Given the description of an element on the screen output the (x, y) to click on. 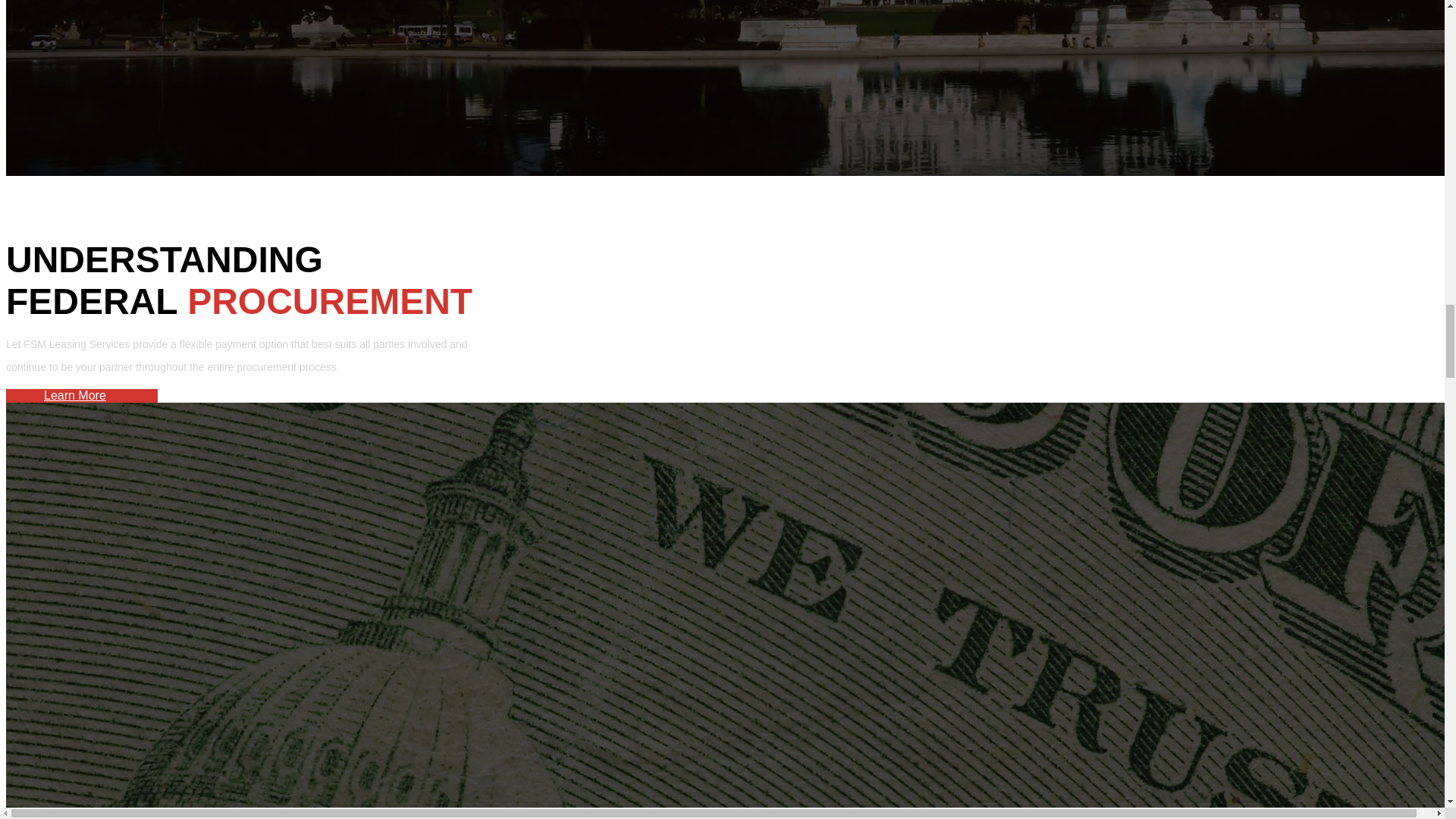
Learn More (74, 395)
